Given the description of an element on the screen output the (x, y) to click on. 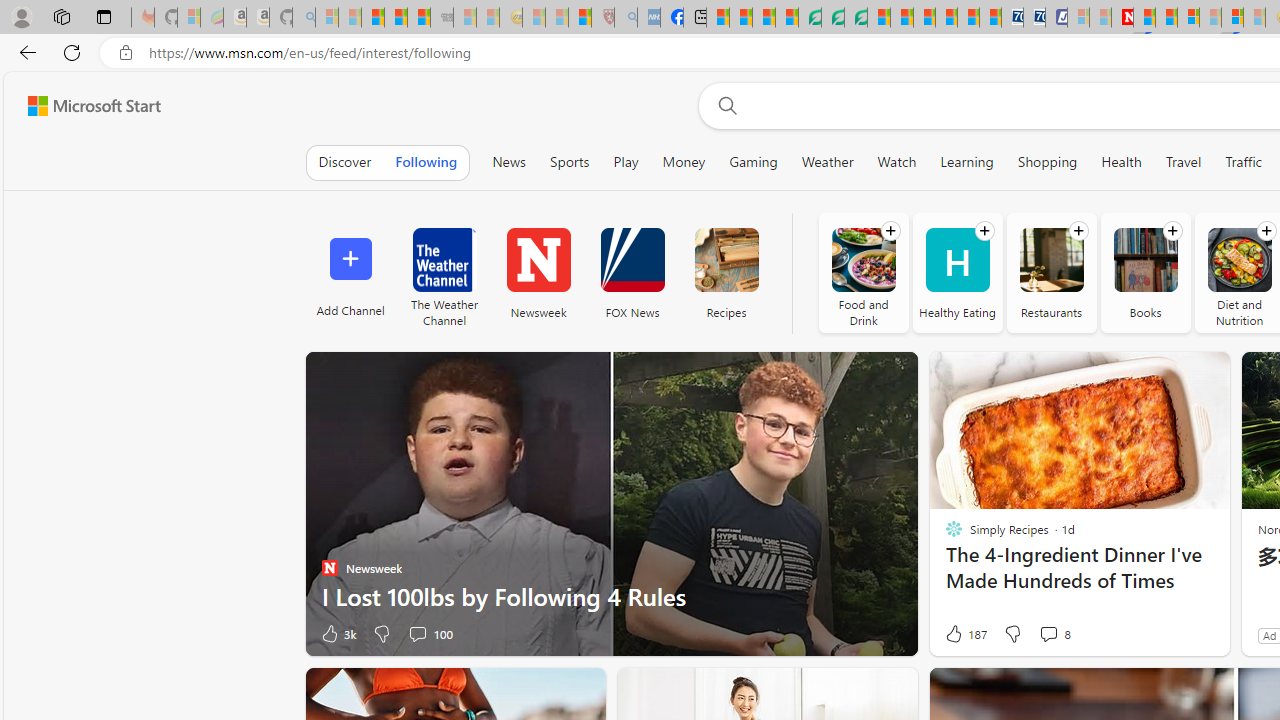
Recipes (726, 260)
